Given the description of an element on the screen output the (x, y) to click on. 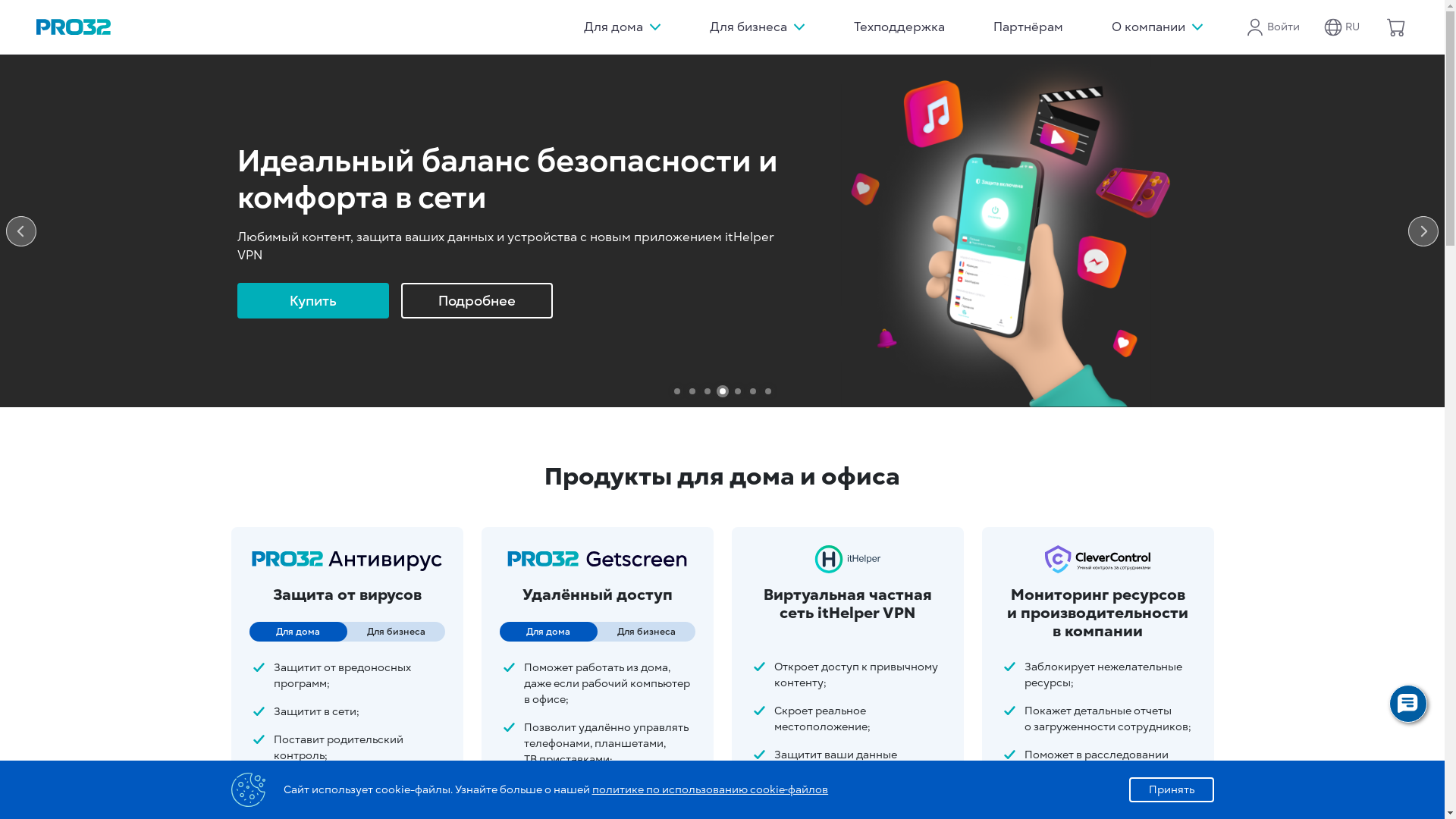
RU Element type: text (1341, 27)
